Given the description of an element on the screen output the (x, y) to click on. 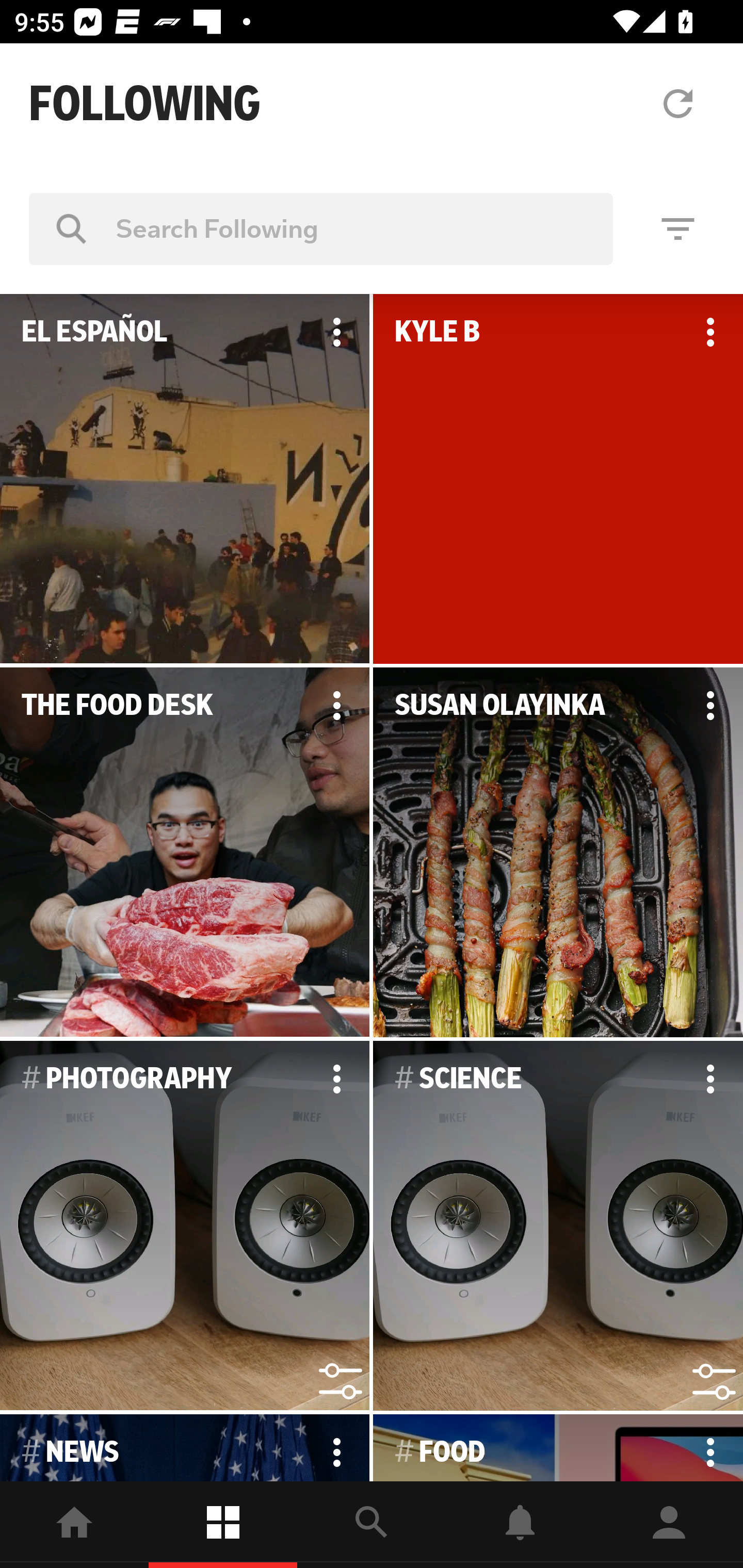
Search Following (320, 228)
EL ESPAÑOL Options (184, 478)
Options (336, 332)
KYLE B Options (557, 478)
Options (710, 332)
THE FOOD DESK Options (184, 852)
Options (336, 705)
SUSAN OLAYINKA Options (557, 852)
Options (710, 705)
# PHOTOGRAPHY Options (184, 1226)
Options (336, 1078)
# SCIENCE Options (557, 1226)
Options (710, 1078)
Options (336, 1447)
Options (710, 1447)
home (74, 1524)
Following (222, 1524)
explore (371, 1524)
Notifications (519, 1524)
Profile (668, 1524)
